Given the description of an element on the screen output the (x, y) to click on. 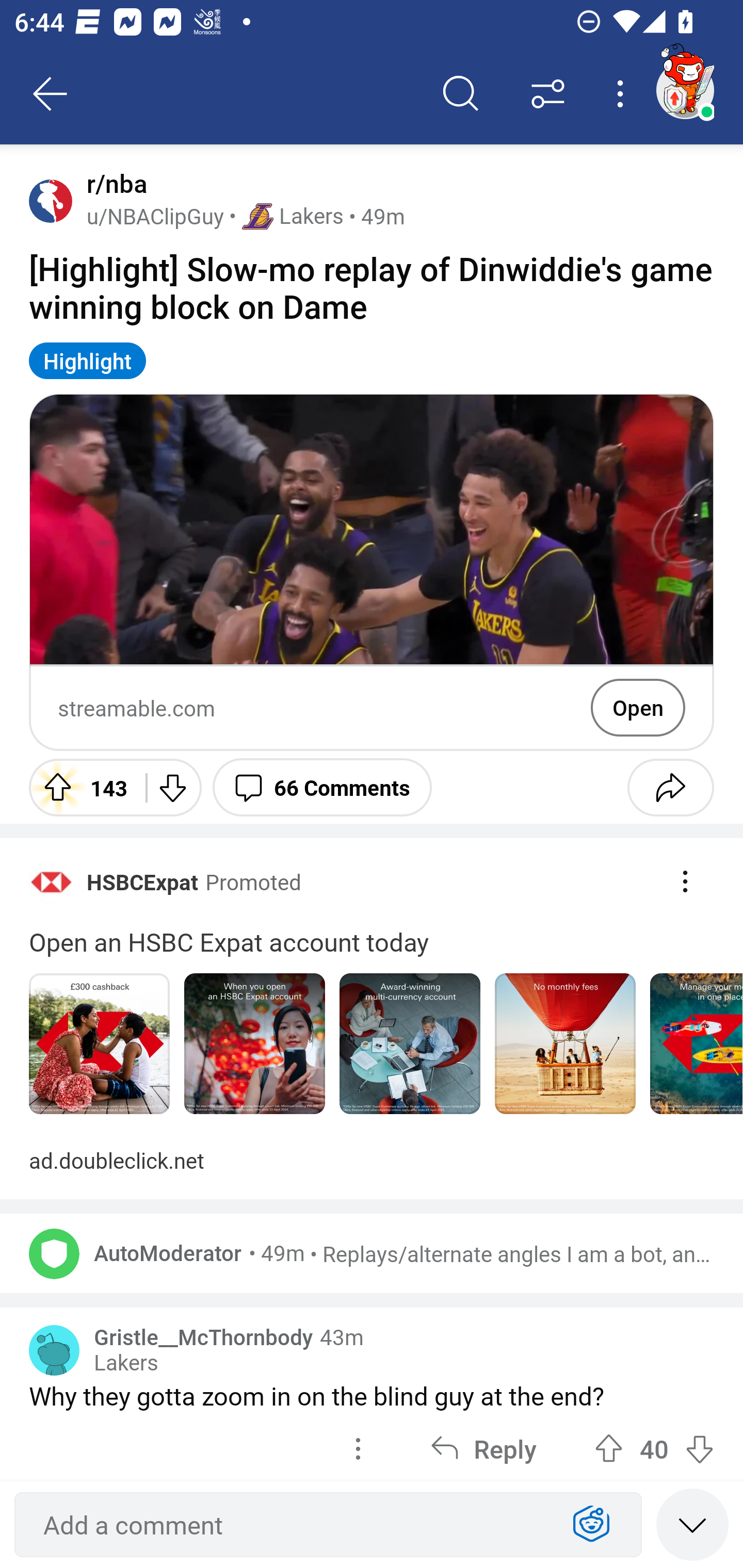
Back (50, 93)
TestAppium002 account (685, 90)
Search comments (460, 93)
Sort comments (547, 93)
More options (623, 93)
r/nba (113, 183)
Avatar (50, 200)
Highlight (87, 360)
Preview Image streamable.com Open (371, 572)
Open (637, 707)
Upvote 143 (79, 787)
Downvote (171, 787)
66 Comments (321, 787)
Share (670, 787)
Image 1 of 5.  (98, 1043)
Image 2 of 5.  (254, 1043)
Image 3 of 5.  (409, 1043)
Image 4 of 5.  (565, 1043)
Image 5 of 5.  (696, 1043)
Avatar (53, 1253)
Avatar (53, 1349)
Lakers (125, 1362)
options (358, 1446)
Reply (483, 1446)
Upvote 40 40 votes Downvote (654, 1446)
Speed read (692, 1524)
Add a comment (291, 1524)
Show Expressions (590, 1524)
